Given the description of an element on the screen output the (x, y) to click on. 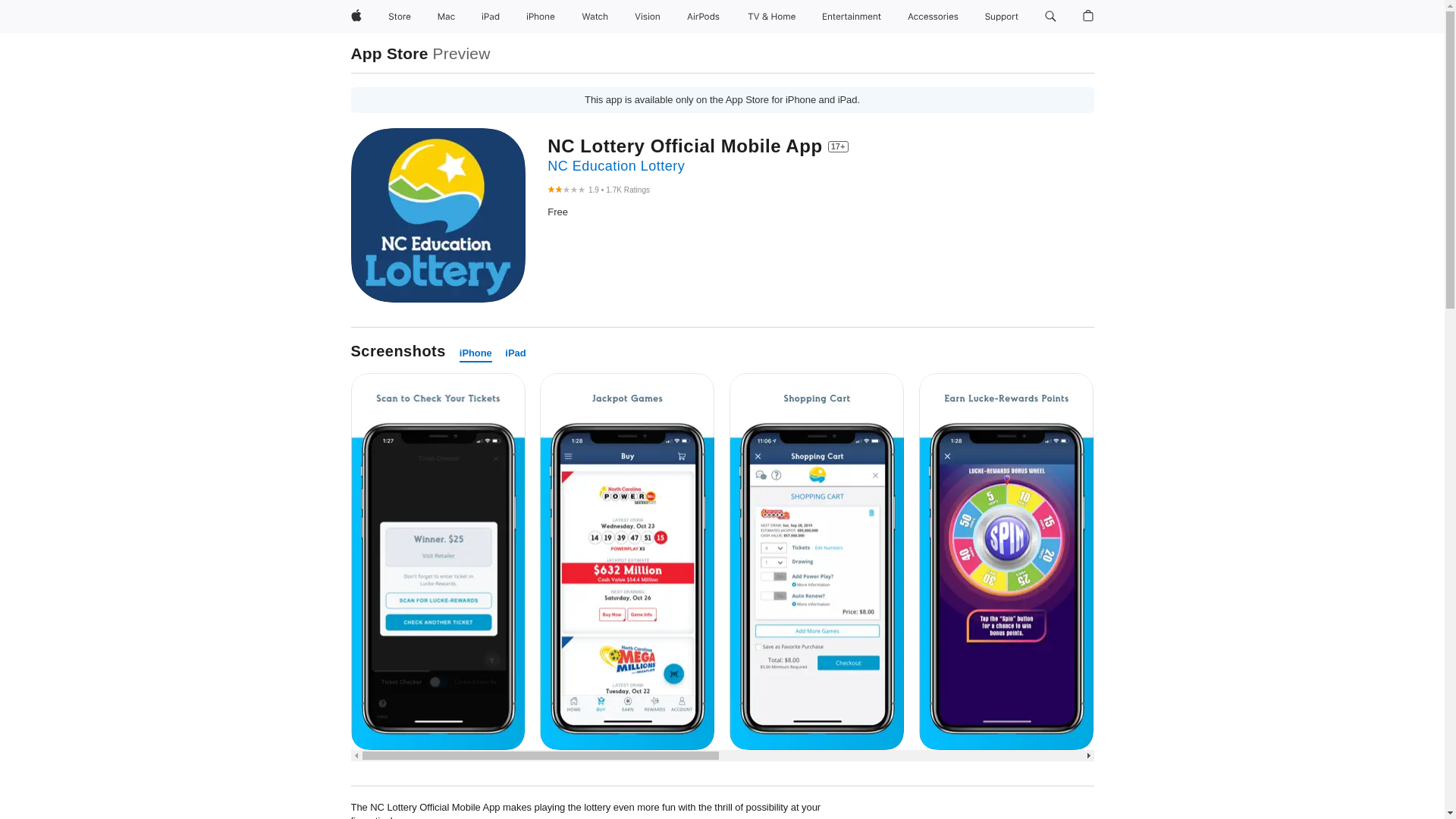
Support (1001, 16)
Vision (647, 16)
iPad (490, 16)
Accessories (932, 16)
Entertainment (851, 16)
NC Education Lottery (615, 165)
iPhone (539, 16)
AirPods (703, 16)
App Store (389, 53)
iPhone (476, 353)
Store (398, 16)
Watch (594, 16)
iPad (515, 353)
